Given the description of an element on the screen output the (x, y) to click on. 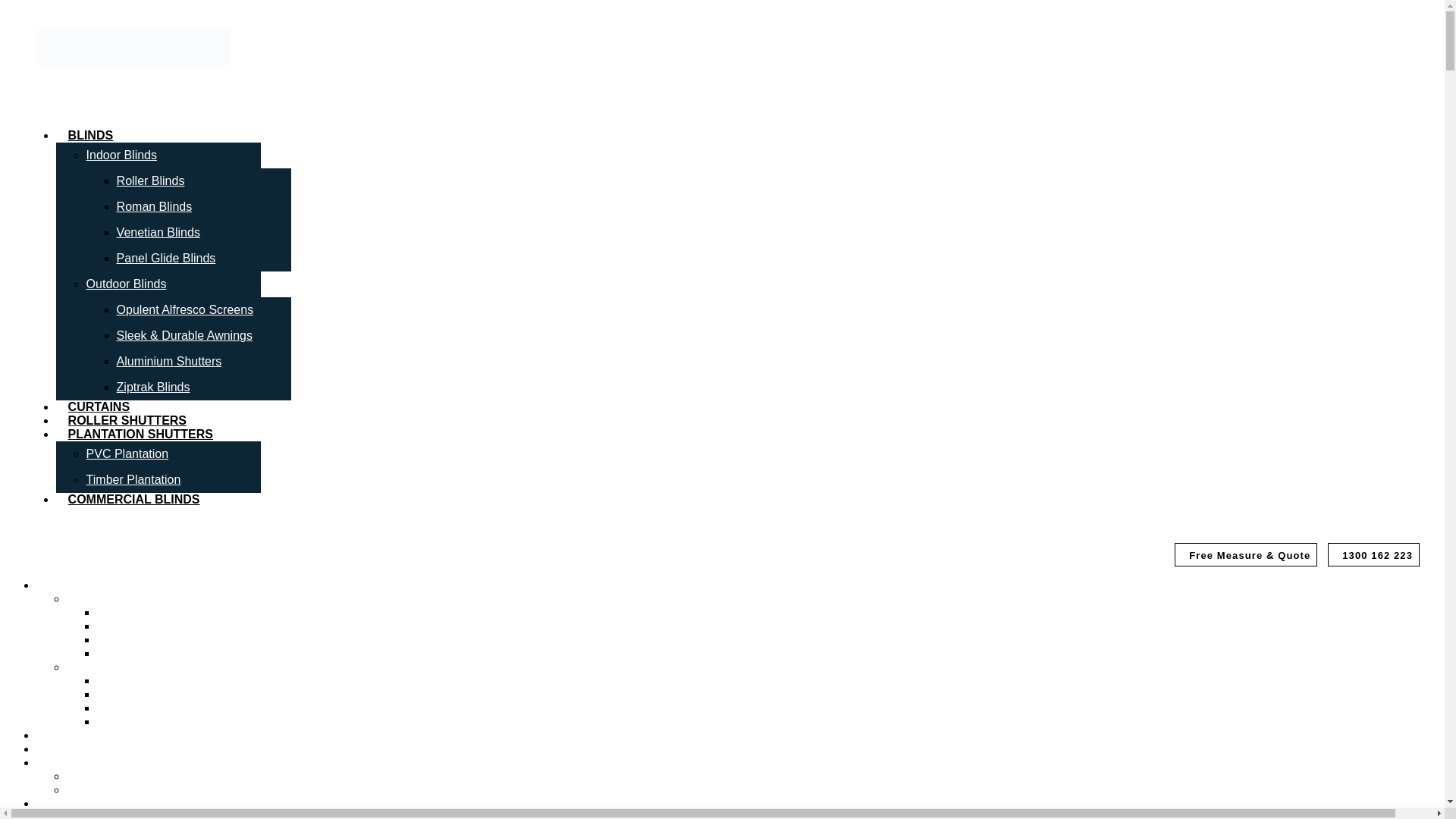
Opulent Alfresco Screens (184, 309)
COMMERCIAL BLINDS (134, 499)
Roller Blinds (150, 180)
Panel Glide Blinds (165, 257)
PVC Plantation (126, 453)
Venetian Blinds (138, 639)
Indoor Blinds (121, 154)
Indoor Blinds (101, 598)
CURTAINS (98, 406)
Roller Shutters (127, 420)
